Given the description of an element on the screen output the (x, y) to click on. 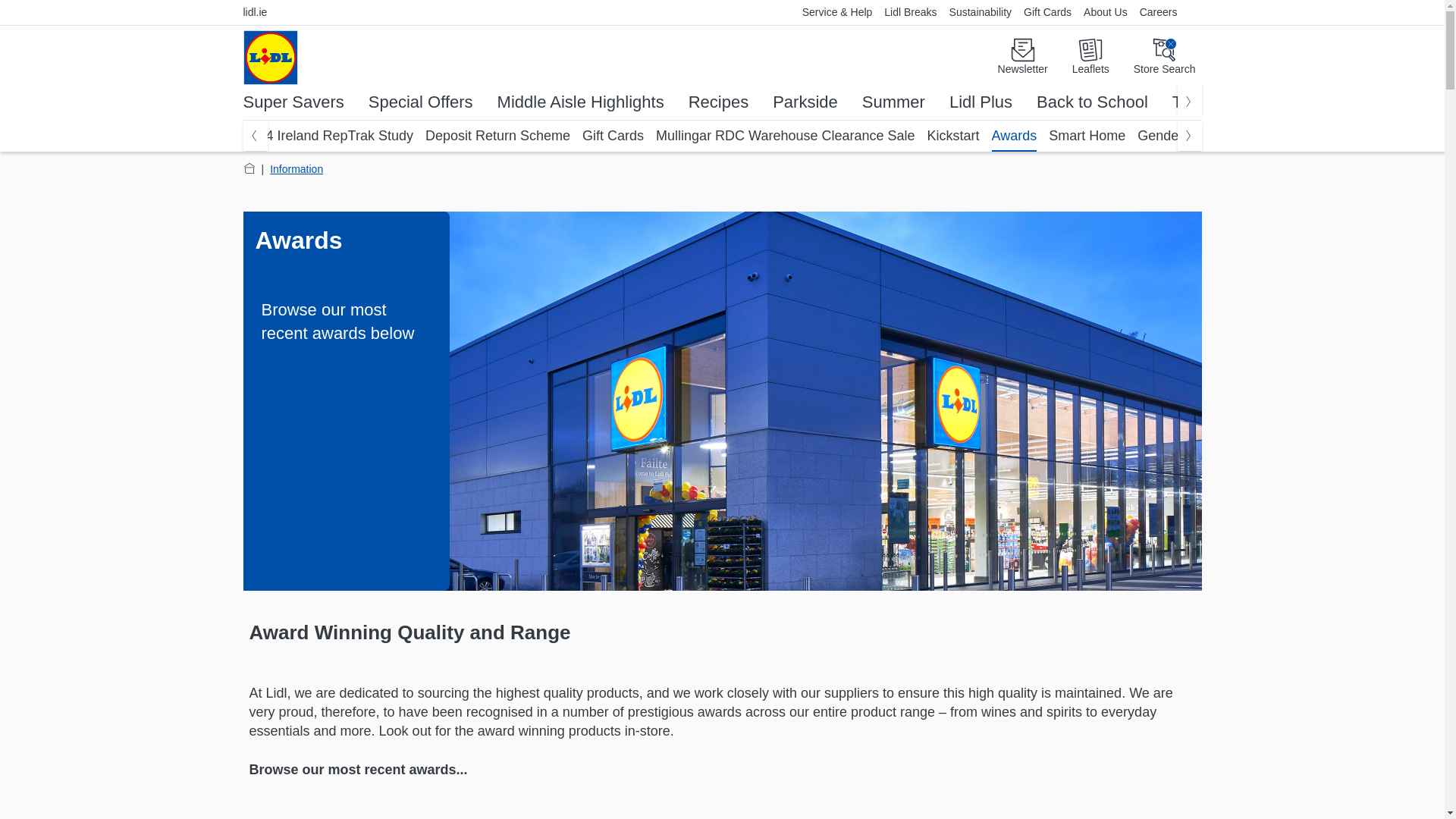
Store Search (1164, 56)
About Us (1105, 12)
Back to School (1092, 102)
Super Savers (293, 102)
Sustainability (980, 12)
Lidl Plus (980, 102)
Gift Cards (1047, 12)
Summer (892, 102)
Leaflets (1090, 56)
The Garden Event (1240, 102)
Special Offers (420, 102)
Careers (1158, 12)
Lidl Breaks (909, 12)
Middle Aisle Highlights (580, 102)
More For You (270, 57)
